Given the description of an element on the screen output the (x, y) to click on. 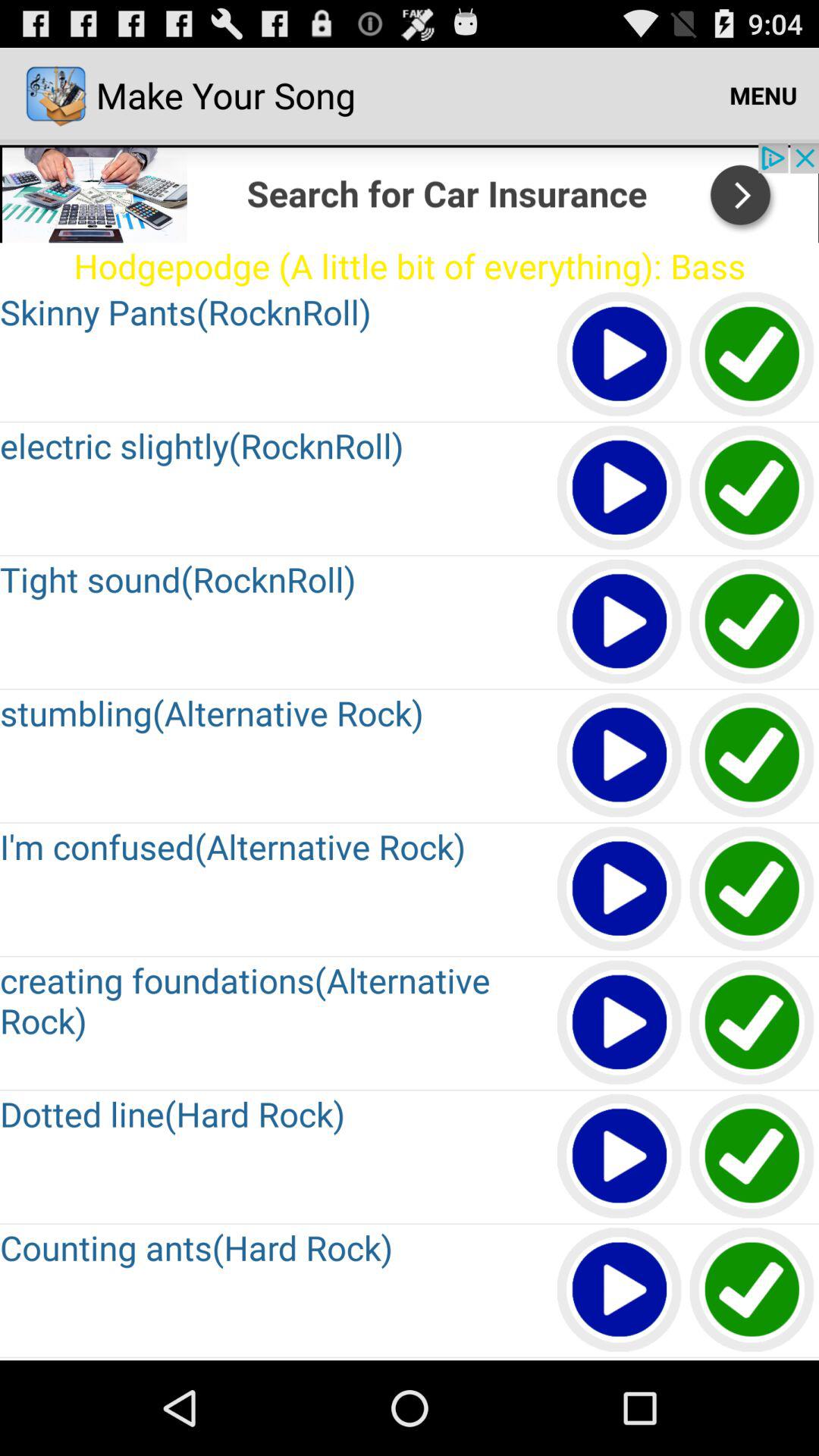
for play (619, 622)
